Given the description of an element on the screen output the (x, y) to click on. 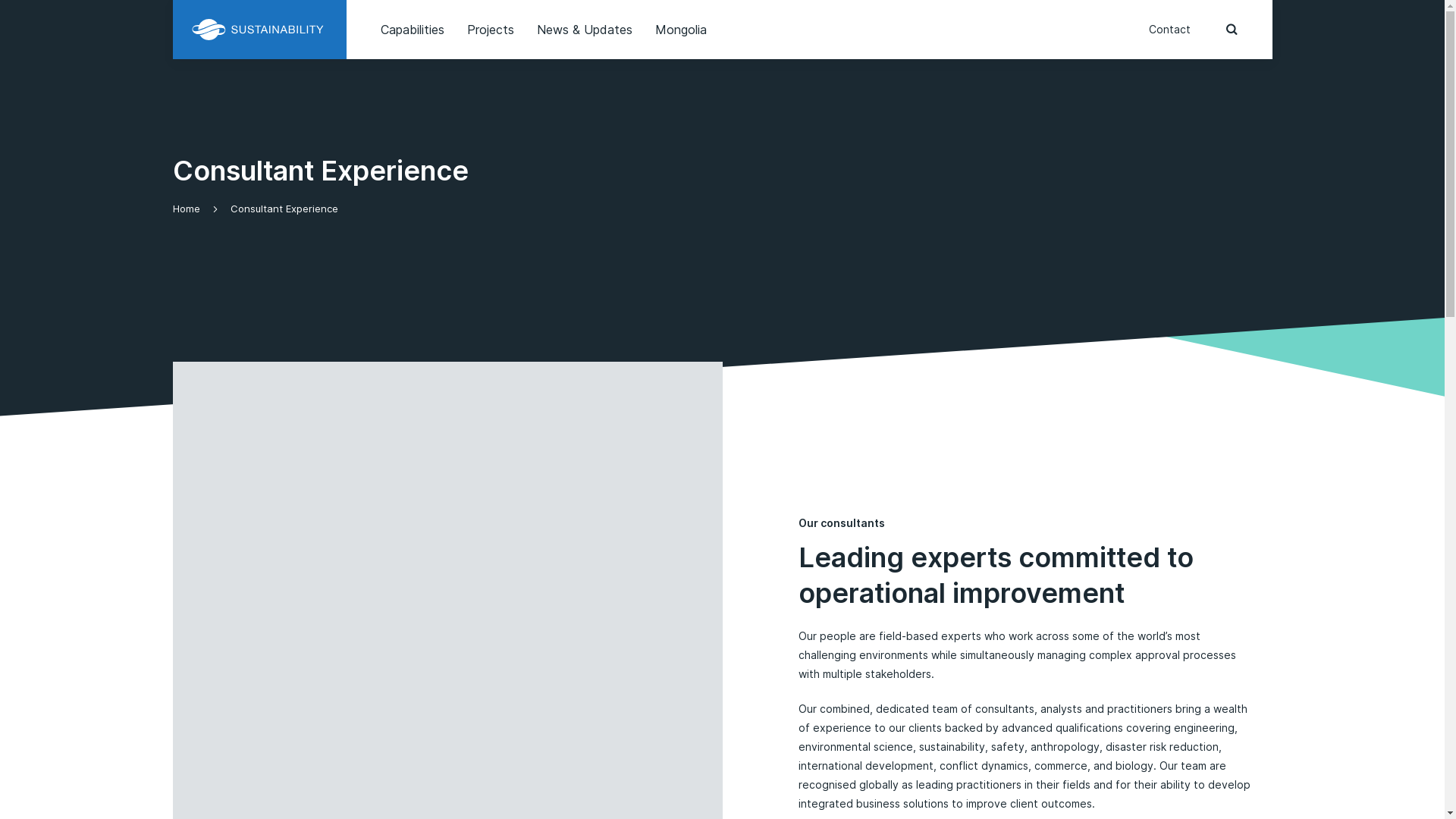
Projects Element type: text (490, 29)
Mongolia Element type: text (680, 29)
Home Element type: text (186, 208)
Sustainability WA Element type: text (259, 29)
Contact Element type: text (1168, 28)
News & Updates Element type: text (584, 29)
press to open the search bar Element type: text (1231, 29)
Capabilities Element type: text (412, 29)
